Given the description of an element on the screen output the (x, y) to click on. 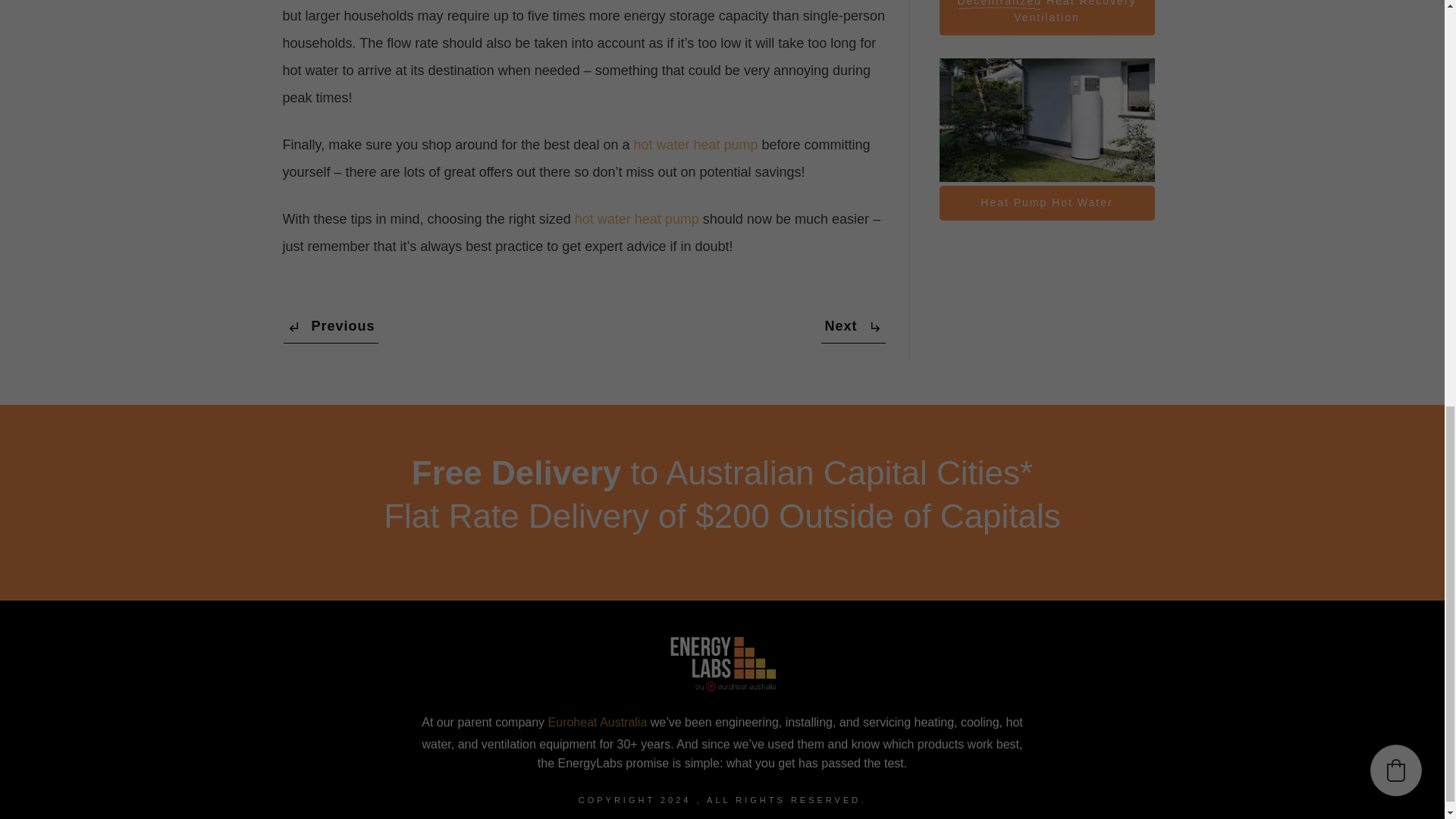
Next (853, 327)
Decentralized Heat Recovery Ventilation (1046, 17)
Heat Pump Hot Water (1046, 202)
hot water heat pump (636, 218)
wwk-heat-pump-2 (1046, 120)
hot water heat pump (695, 144)
Previous (330, 327)
Euroheat Australia (597, 721)
